Given the description of an element on the screen output the (x, y) to click on. 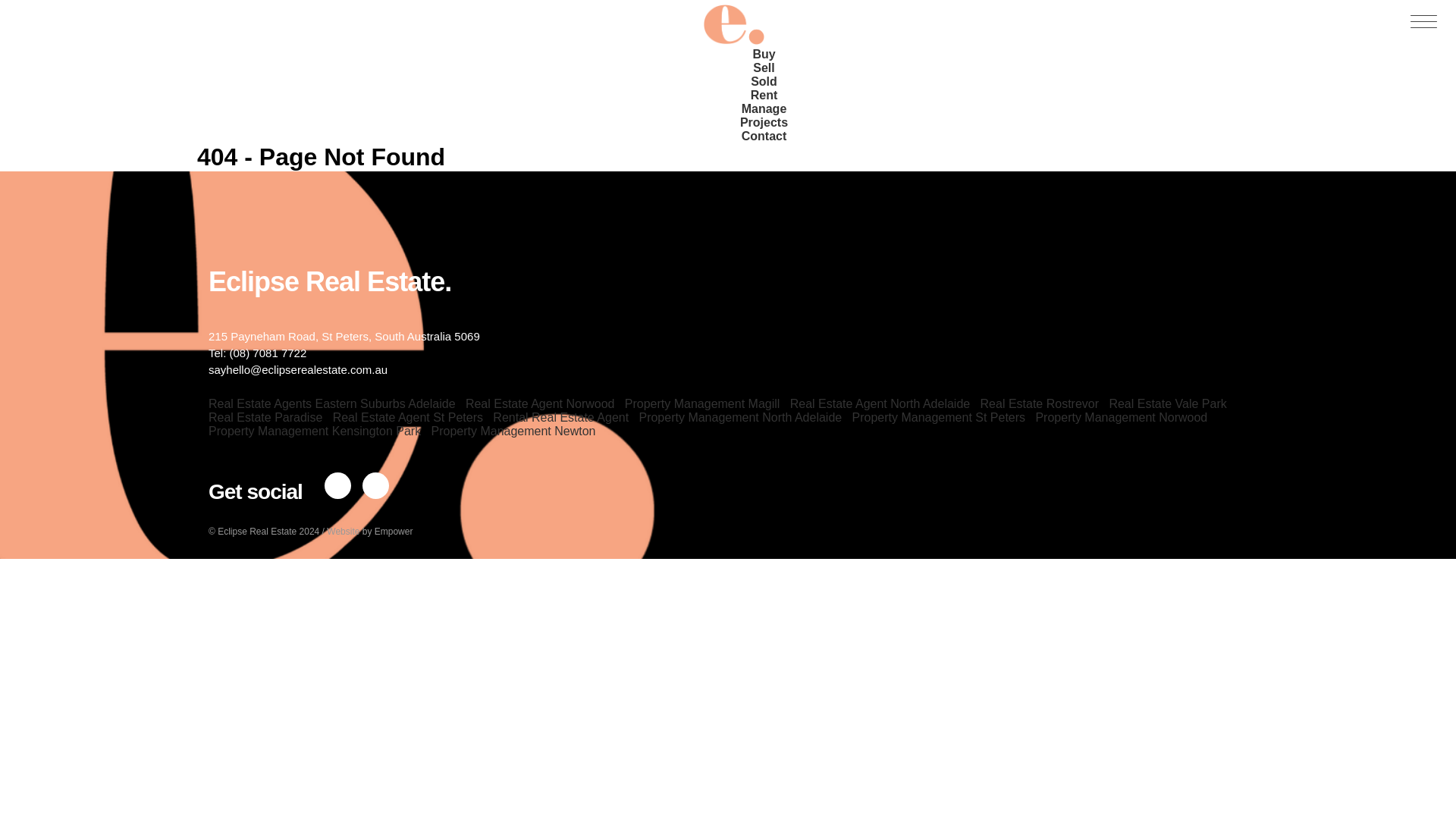
Property Management North Adelaide (740, 417)
Real Estate Paradise (264, 417)
Buy (763, 54)
Property Management St Peters (938, 417)
Sell (763, 67)
Real Estate Agent North Adelaide (880, 403)
Contact (764, 136)
Property Management Norwood (1121, 417)
Real Estate Agent Norwood (539, 403)
Real Estate Agent St Peters (408, 417)
Property Management Magill (702, 403)
Real Estate Rostrevor (1039, 403)
Sold (764, 81)
Rental Real Estate Agent (560, 417)
Manage (764, 108)
